Given the description of an element on the screen output the (x, y) to click on. 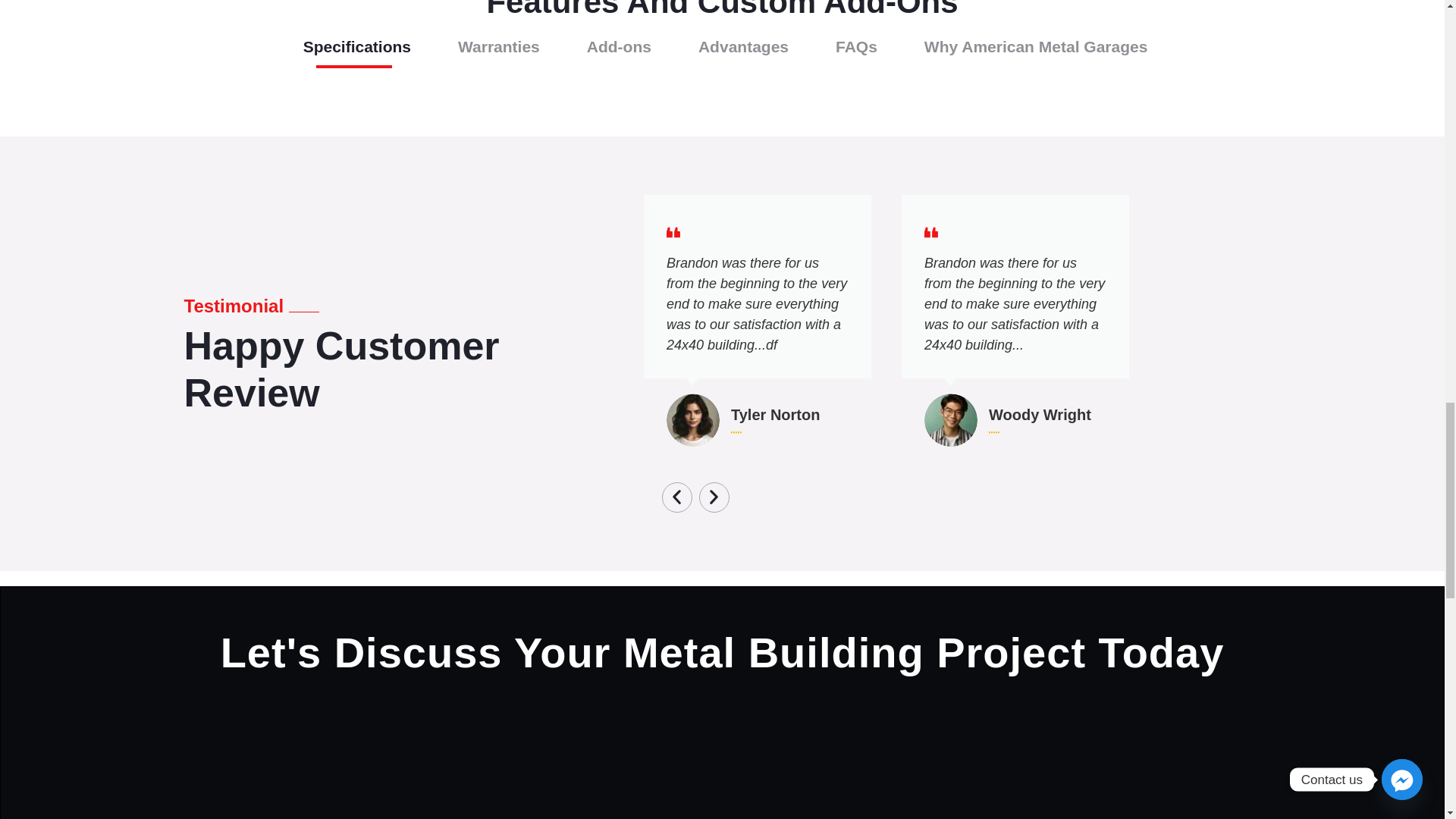
Mount Airy, NC, United States, North Carolina (1074, 776)
